Given the description of an element on the screen output the (x, y) to click on. 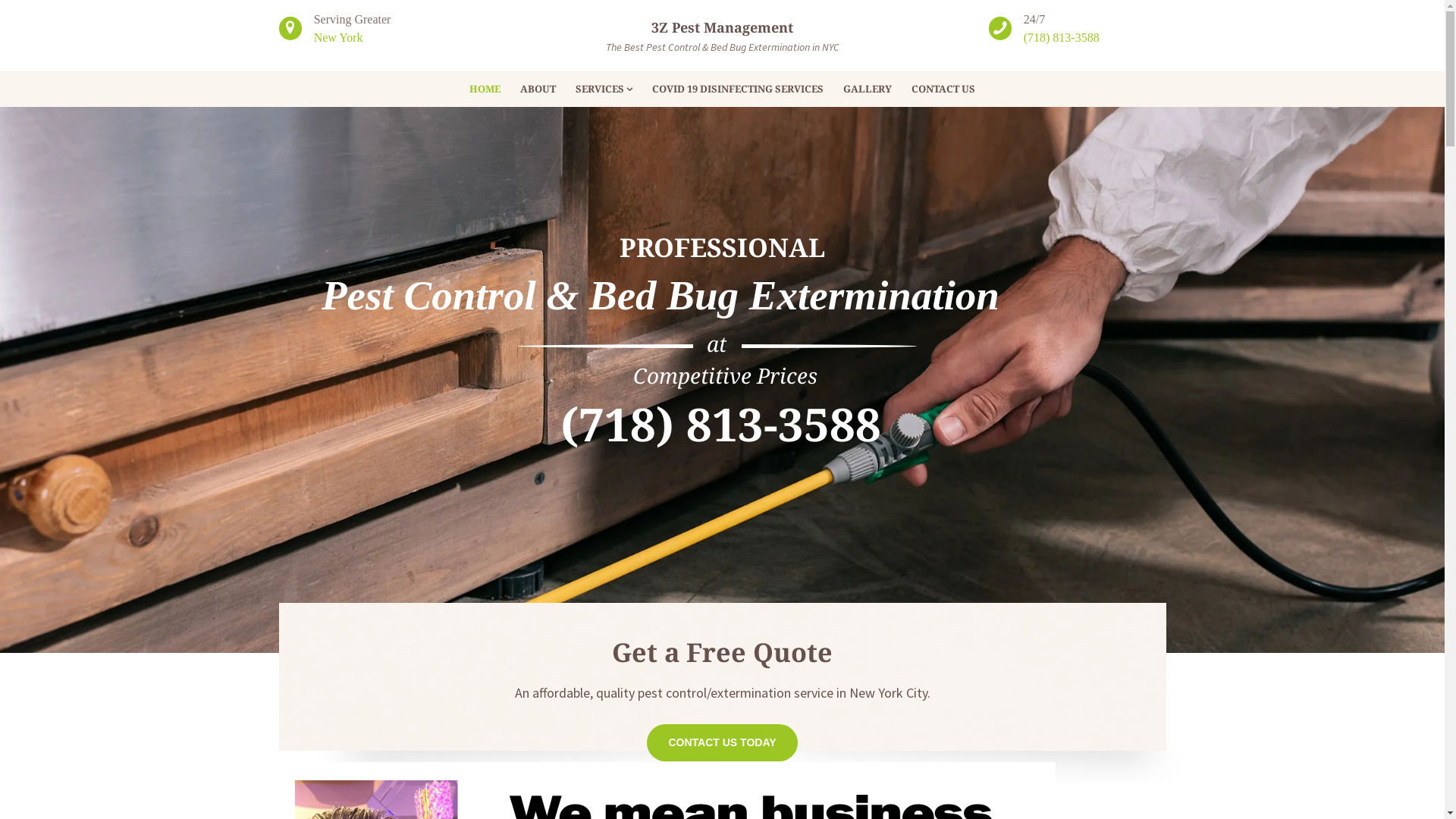
HOME Element type: text (484, 88)
GALLERY Element type: text (867, 88)
(718) 813-3588 Element type: text (1061, 37)
ABOUT Element type: text (537, 88)
0 Element type: text (409, 721)
CONTACT US TODAY Element type: text (721, 742)
SERVICES Element type: text (604, 88)
CONTACT US Element type: text (943, 88)
COVID 19 DISINFECTING SERVICES Element type: text (737, 88)
September 16, 2016 Element type: text (332, 721)
